Given the description of an element on the screen output the (x, y) to click on. 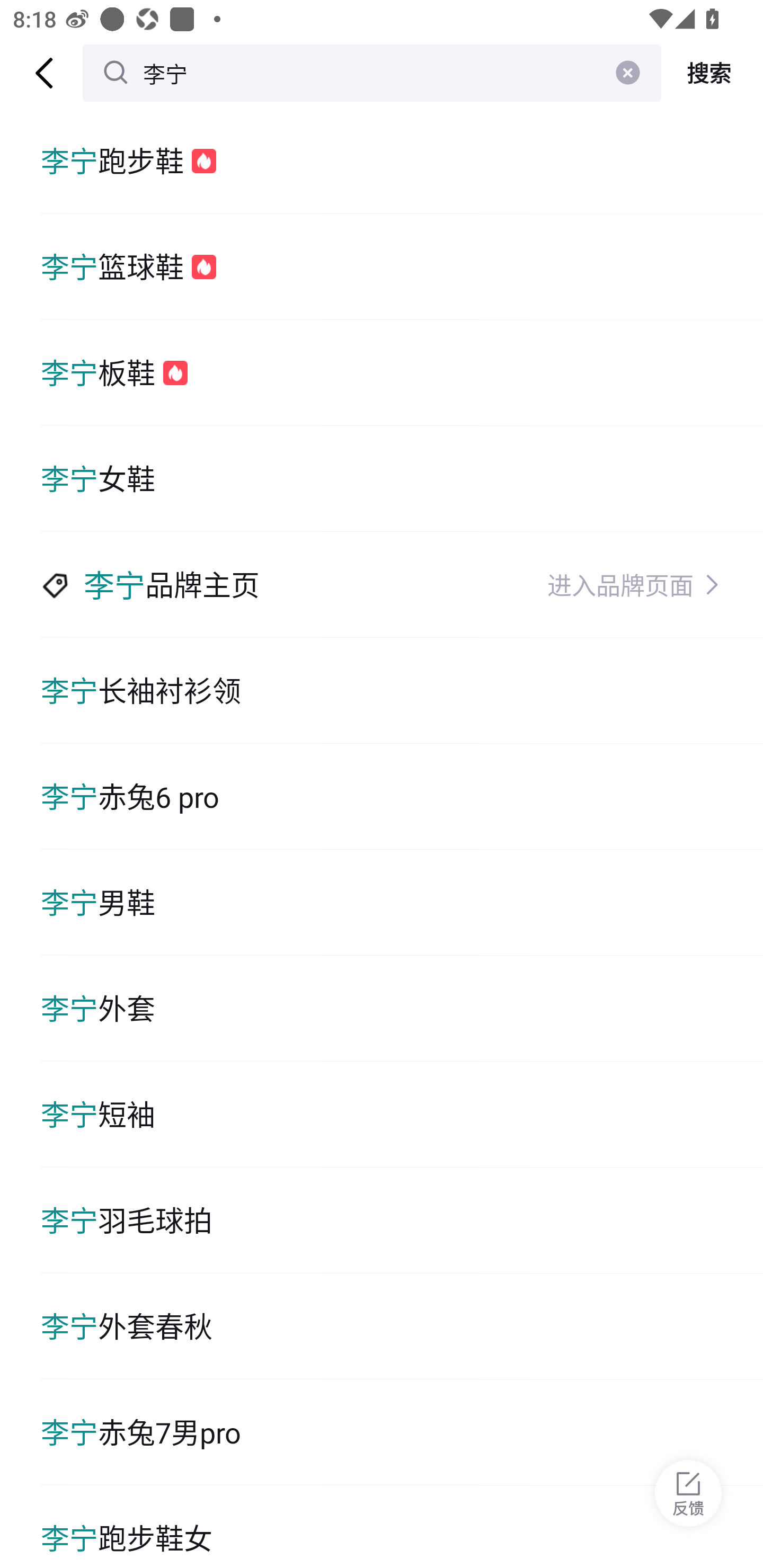
搜索 (712, 72)
李宁 (371, 72)
李宁跑步鞋 (401, 160)
李宁篮球鞋 (401, 266)
李宁板鞋 (401, 372)
李宁女鞋 (401, 478)
李宁 品牌主页 进入品牌页面  (401, 584)
李宁长袖衬衫领 (401, 690)
李宁赤兔6 pro (401, 796)
李宁男鞋 (401, 901)
李宁外套 (401, 1007)
李宁短袖 (401, 1114)
李宁羽毛球拍 (401, 1220)
李宁外套春秋 (401, 1326)
李宁赤兔7男pro (401, 1431)
李宁跑步鞋女 (401, 1526)
